Given the description of an element on the screen output the (x, y) to click on. 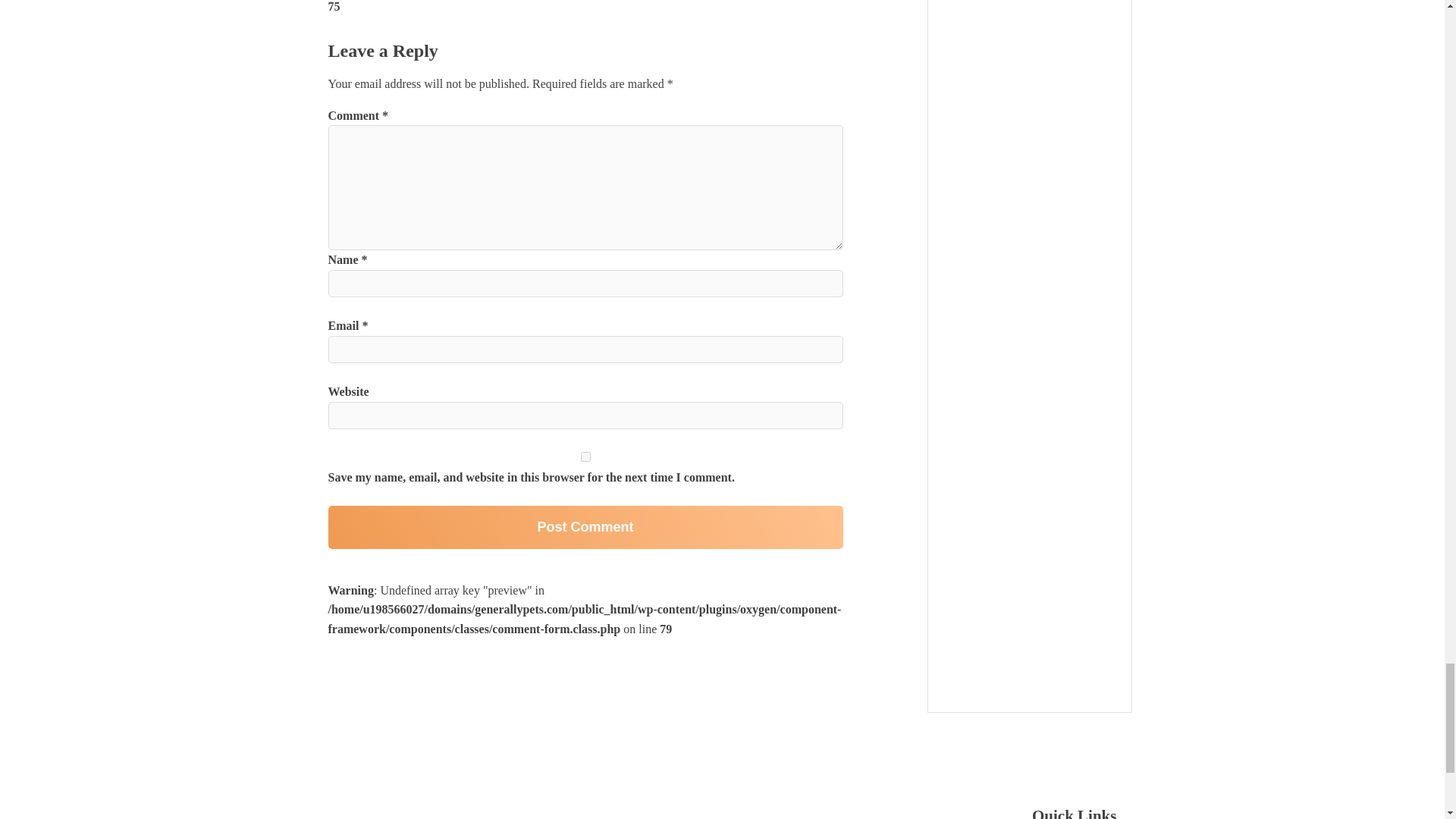
yes (585, 456)
Post Comment (585, 527)
Post Comment (585, 527)
